Given the description of an element on the screen output the (x, y) to click on. 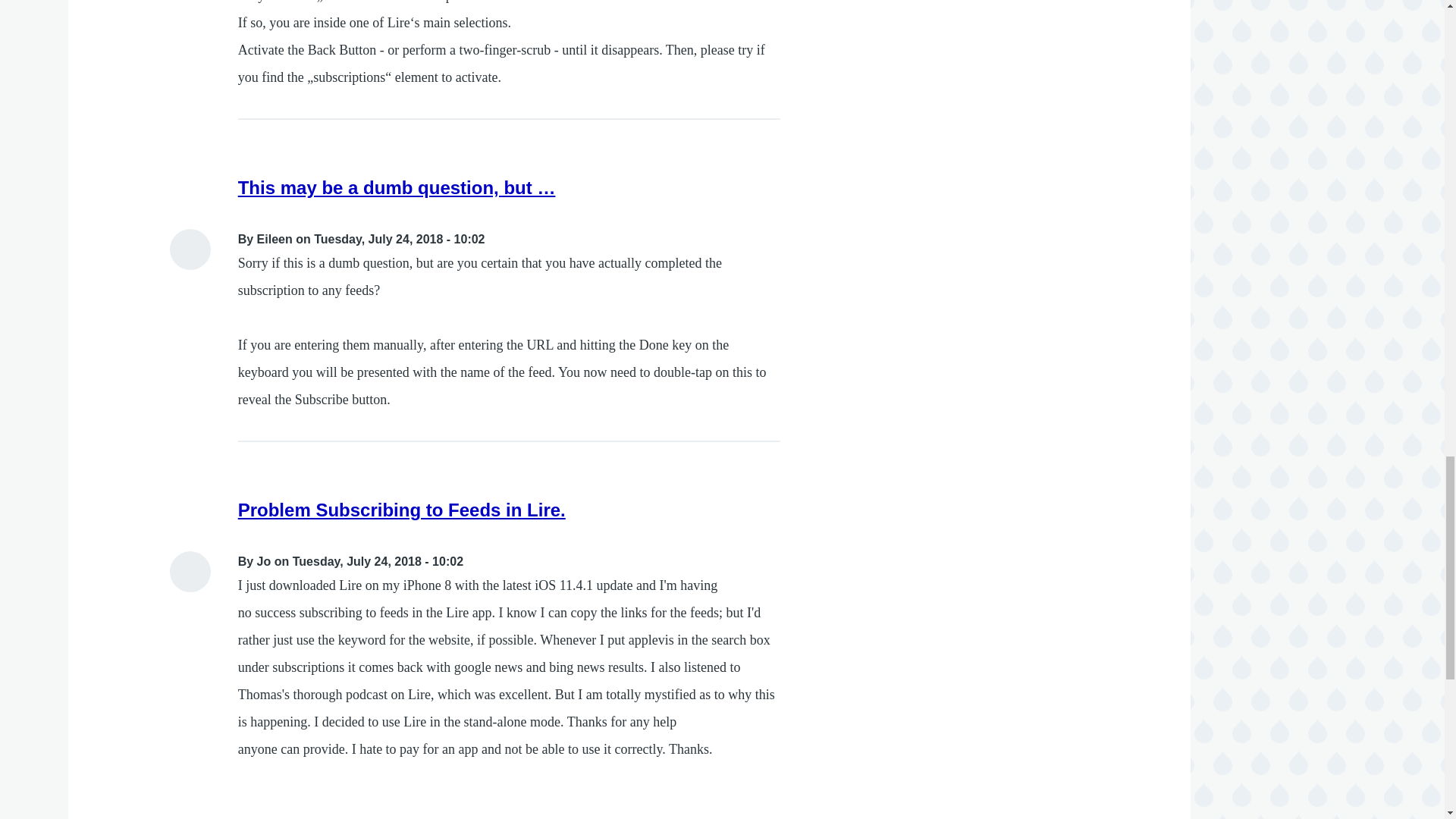
Problem Subscribing to Feeds in Lire. (402, 509)
